Given the description of an element on the screen output the (x, y) to click on. 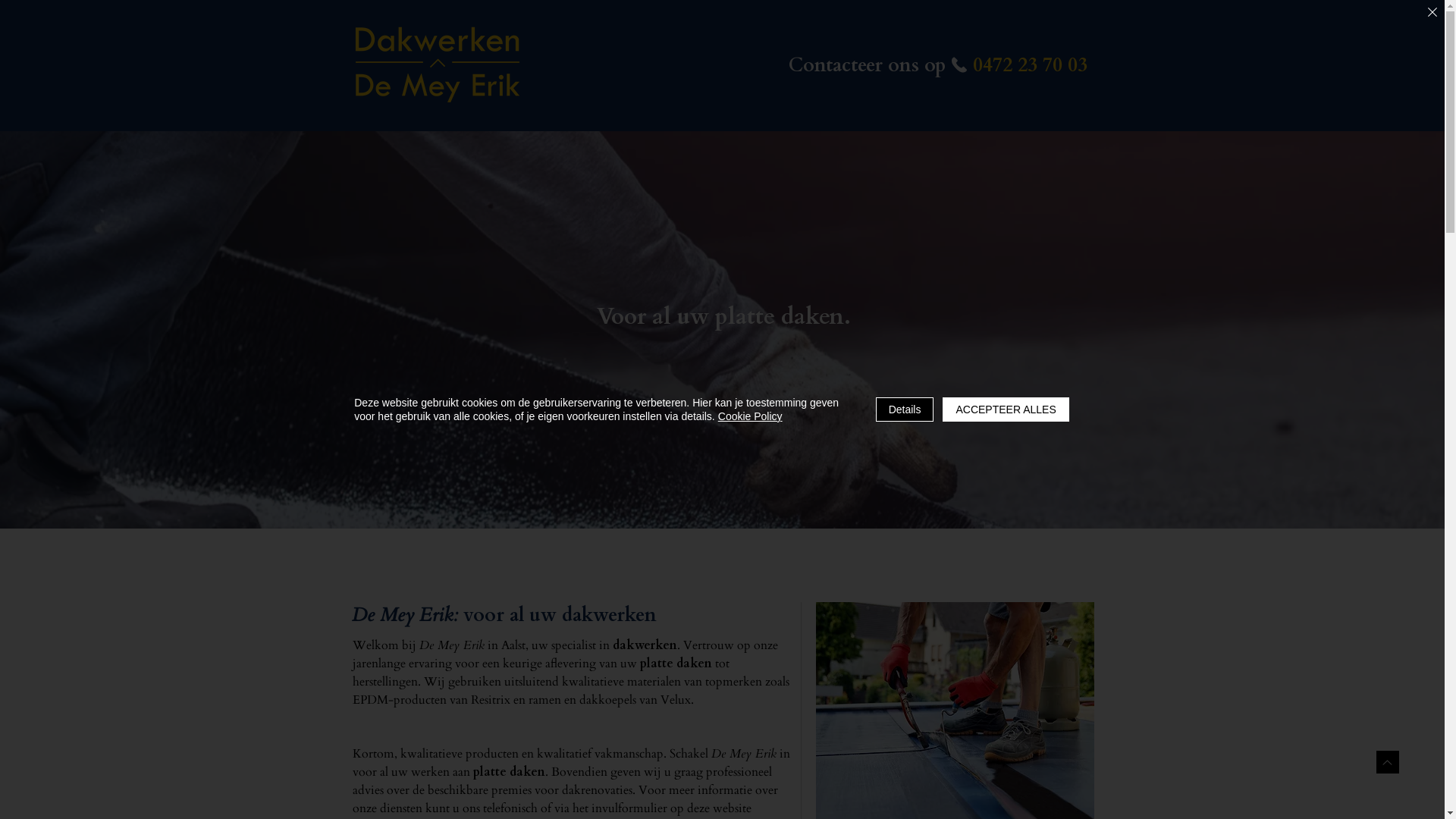
Cookie Policy Element type: text (750, 416)
Details Element type: text (904, 409)
ACCEPTEER ALLES Element type: text (1005, 409)
0472 23 70 03 Element type: text (1029, 65)
